Given the description of an element on the screen output the (x, y) to click on. 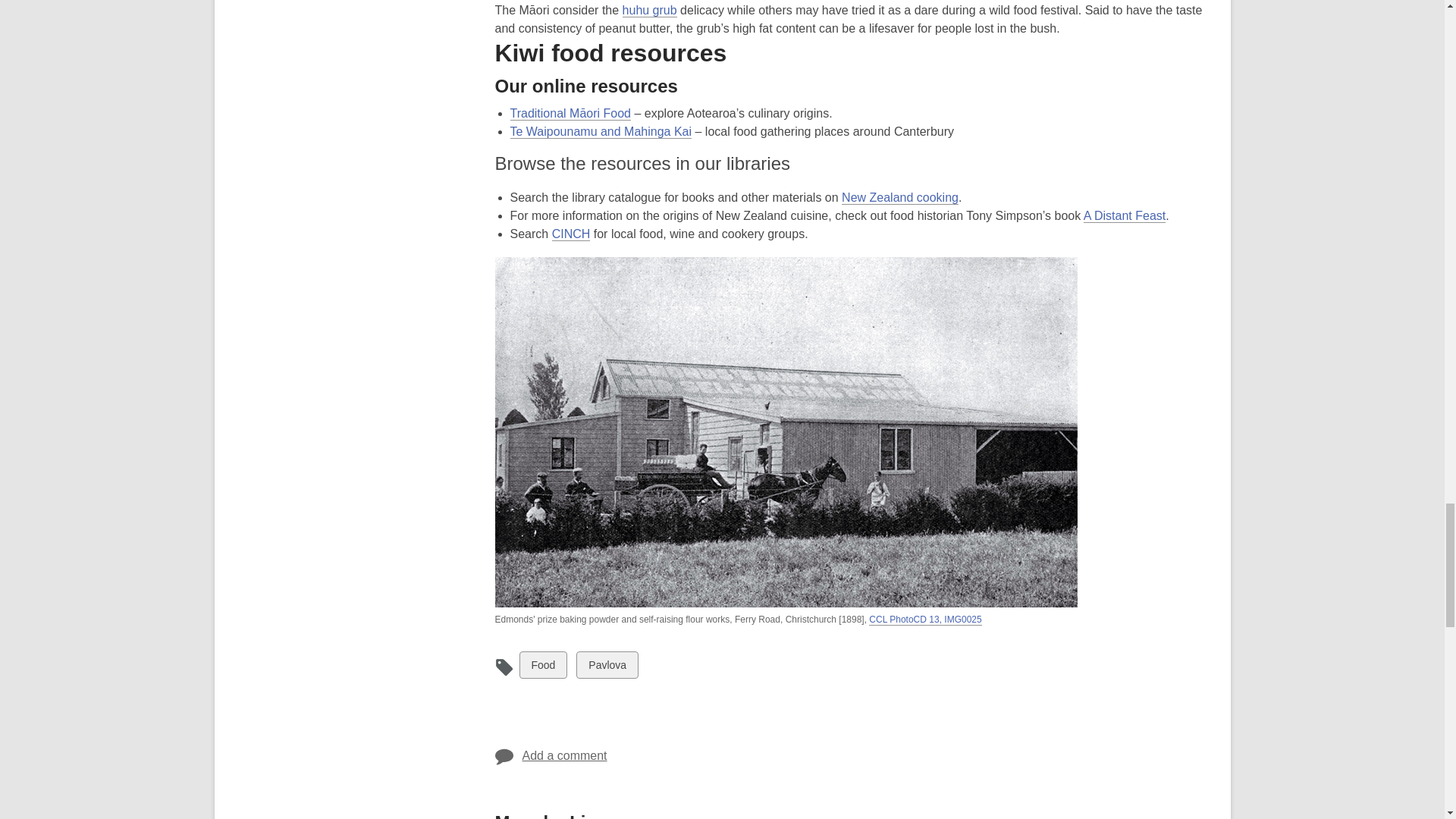
Te Waipounamu and Mahinga Kai (600, 131)
